Given the description of an element on the screen output the (x, y) to click on. 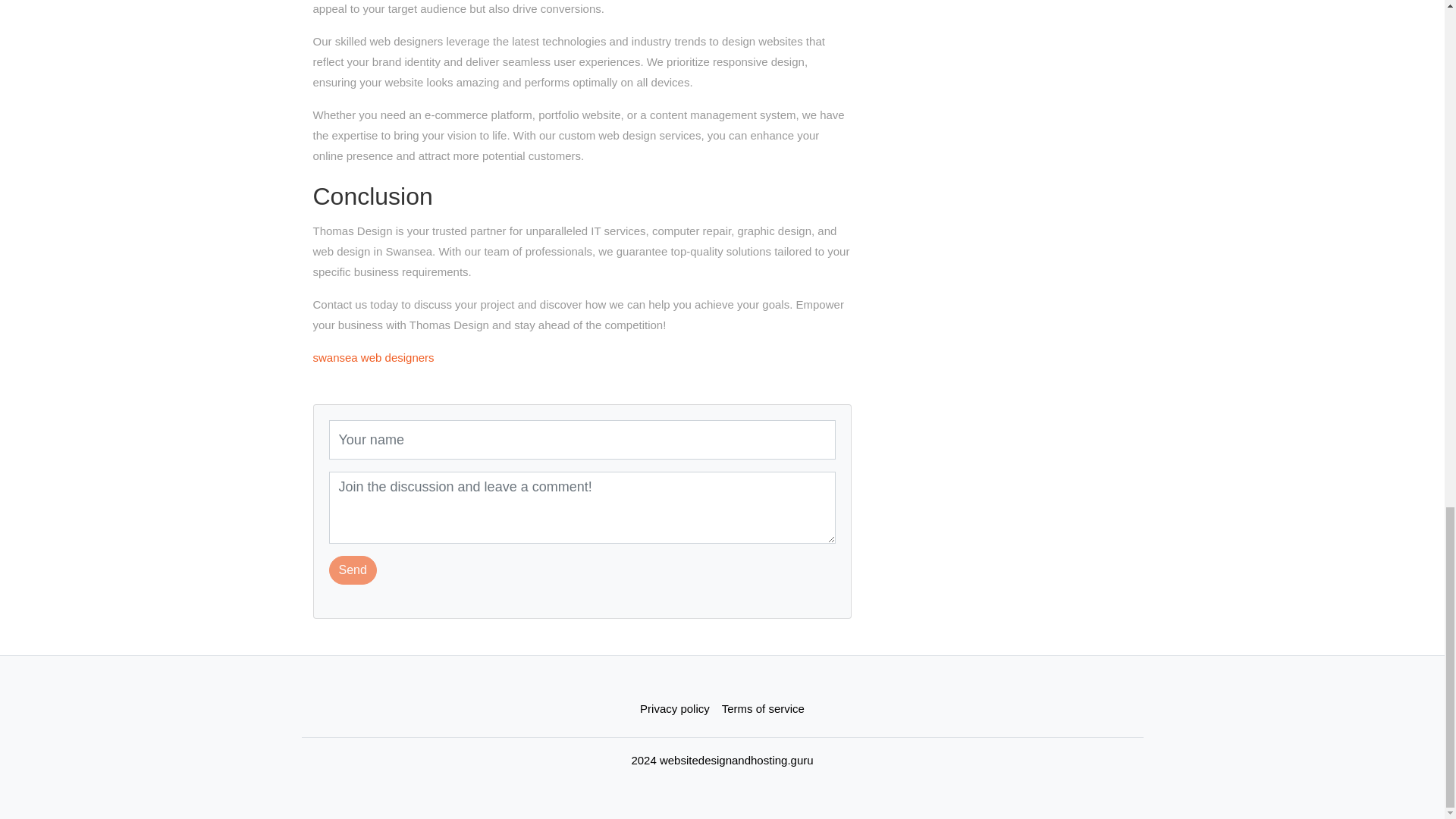
Send (353, 570)
swansea web designers (373, 357)
Privacy policy (674, 708)
Terms of service (763, 708)
Send (353, 570)
